Given the description of an element on the screen output the (x, y) to click on. 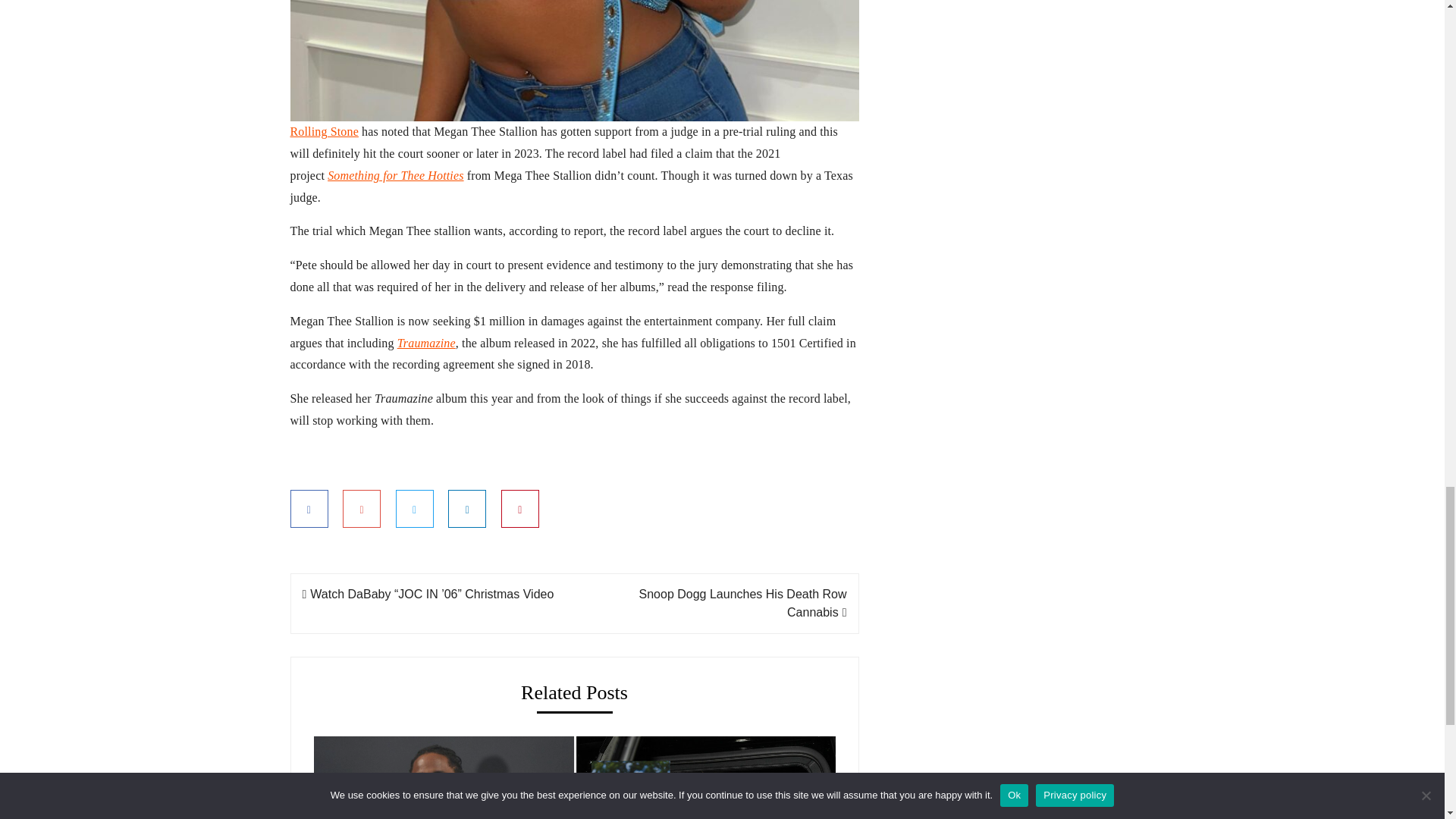
Traumazine (426, 342)
Rolling Stone (323, 131)
Something for Thee Hotties (395, 174)
Snoop Dogg Launches His Death Row Cannabis (743, 603)
